Given the description of an element on the screen output the (x, y) to click on. 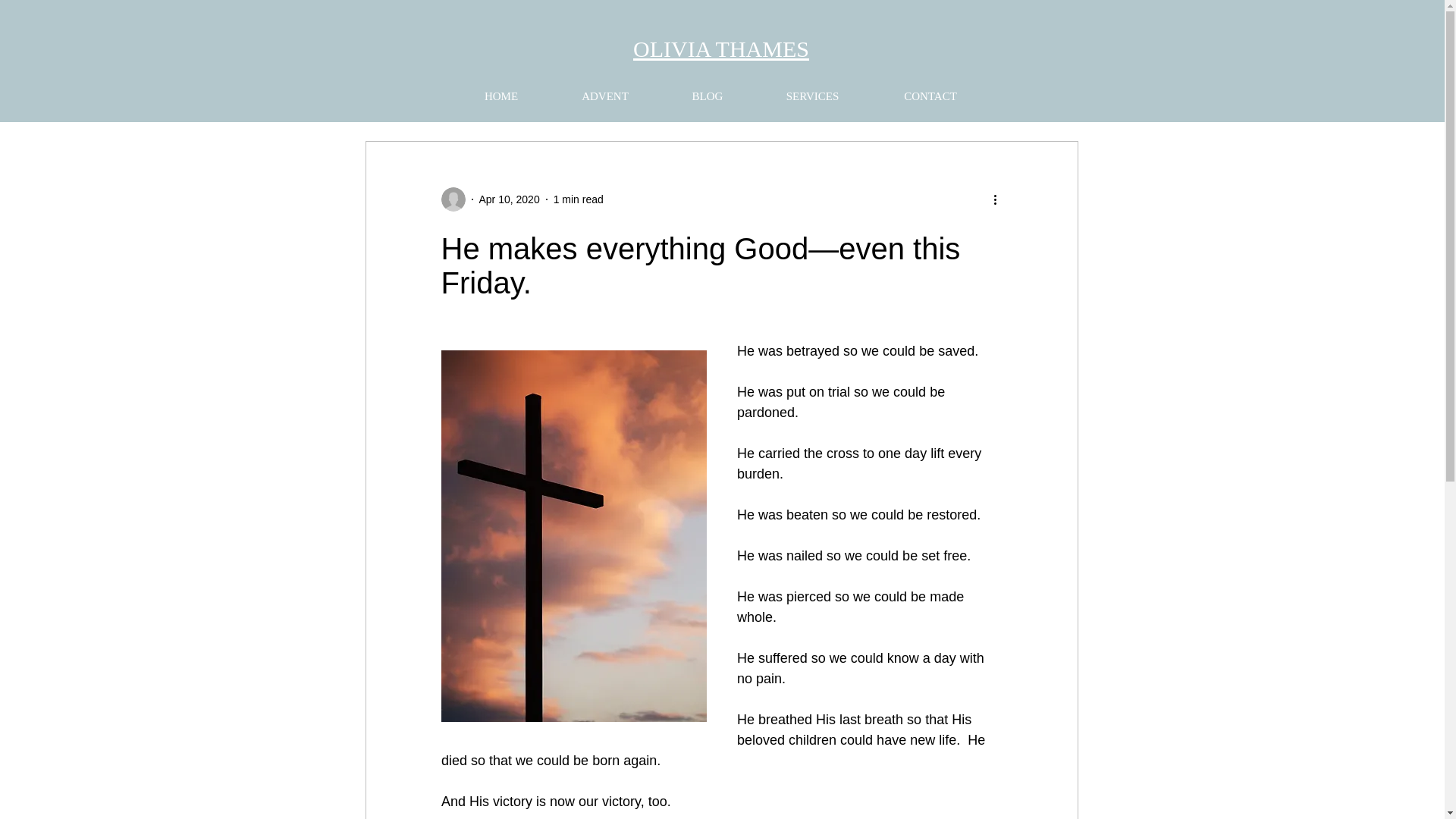
CONTACT (930, 95)
OLIVIA THAMES (721, 48)
HOME (501, 95)
SERVICES (812, 95)
Apr 10, 2020 (509, 198)
ADVENT (604, 95)
1 min read (578, 198)
BLOG (707, 95)
